Given the description of an element on the screen output the (x, y) to click on. 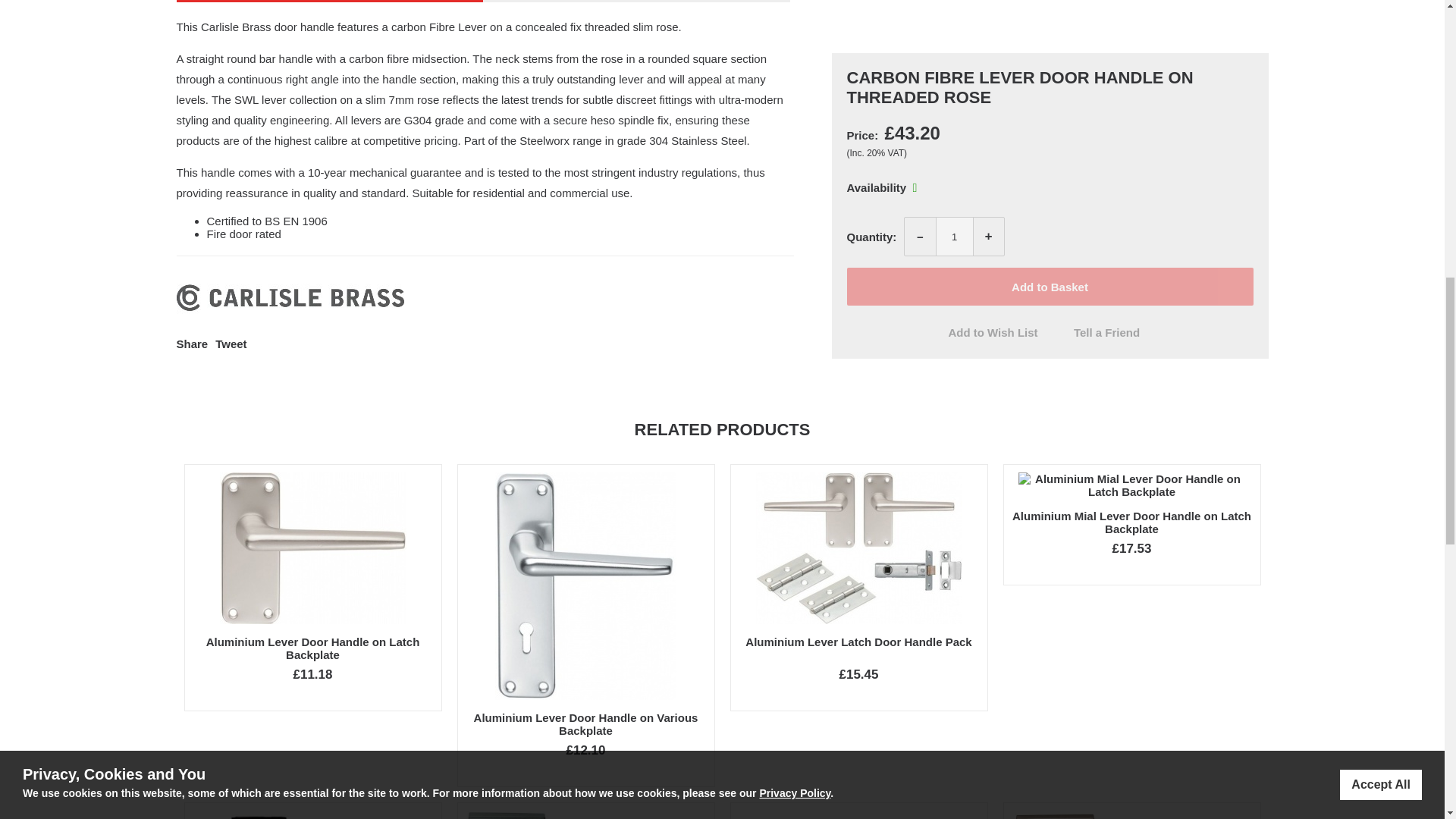
Aluminium Lever Latch Door Handle Pack (858, 641)
Share (192, 343)
Aluminium Lever Door Handle on Latch Backplate (313, 647)
Aluminium Mial Lever Door Handle on Latch Backplate (1130, 522)
Tweet (230, 343)
Aluminium Lever Door Handle on Various Backplate (586, 724)
